Given the description of an element on the screen output the (x, y) to click on. 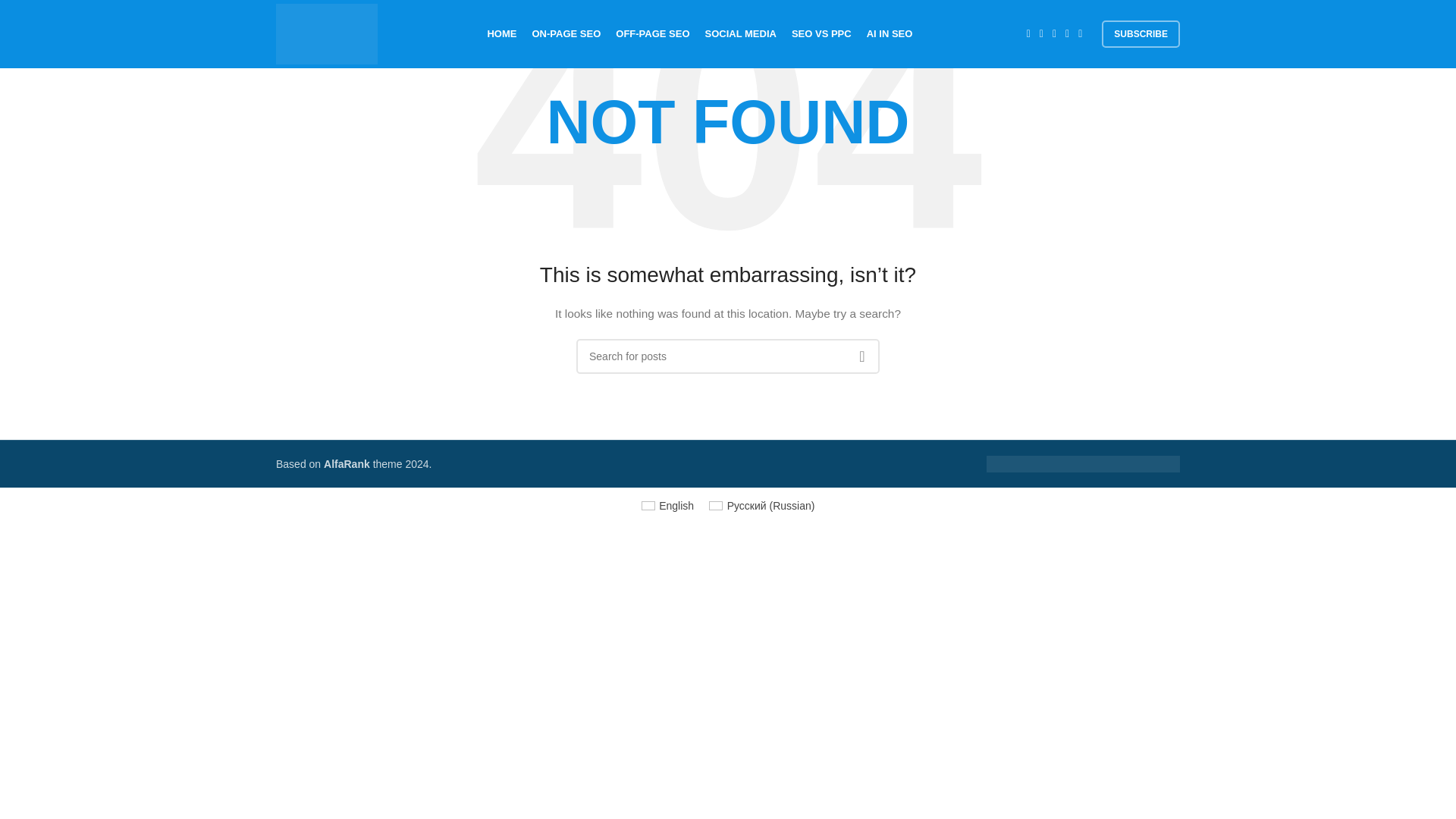
ON-PAGE SEO (565, 33)
SOCIAL MEDIA (740, 33)
SUBSCRIBE (1140, 33)
OFF-PAGE SEO (651, 33)
HOME (501, 33)
English (667, 505)
SEO VS PPC (821, 33)
Search for posts (727, 356)
AI IN SEO (889, 33)
SEARCH (861, 356)
